Given the description of an element on the screen output the (x, y) to click on. 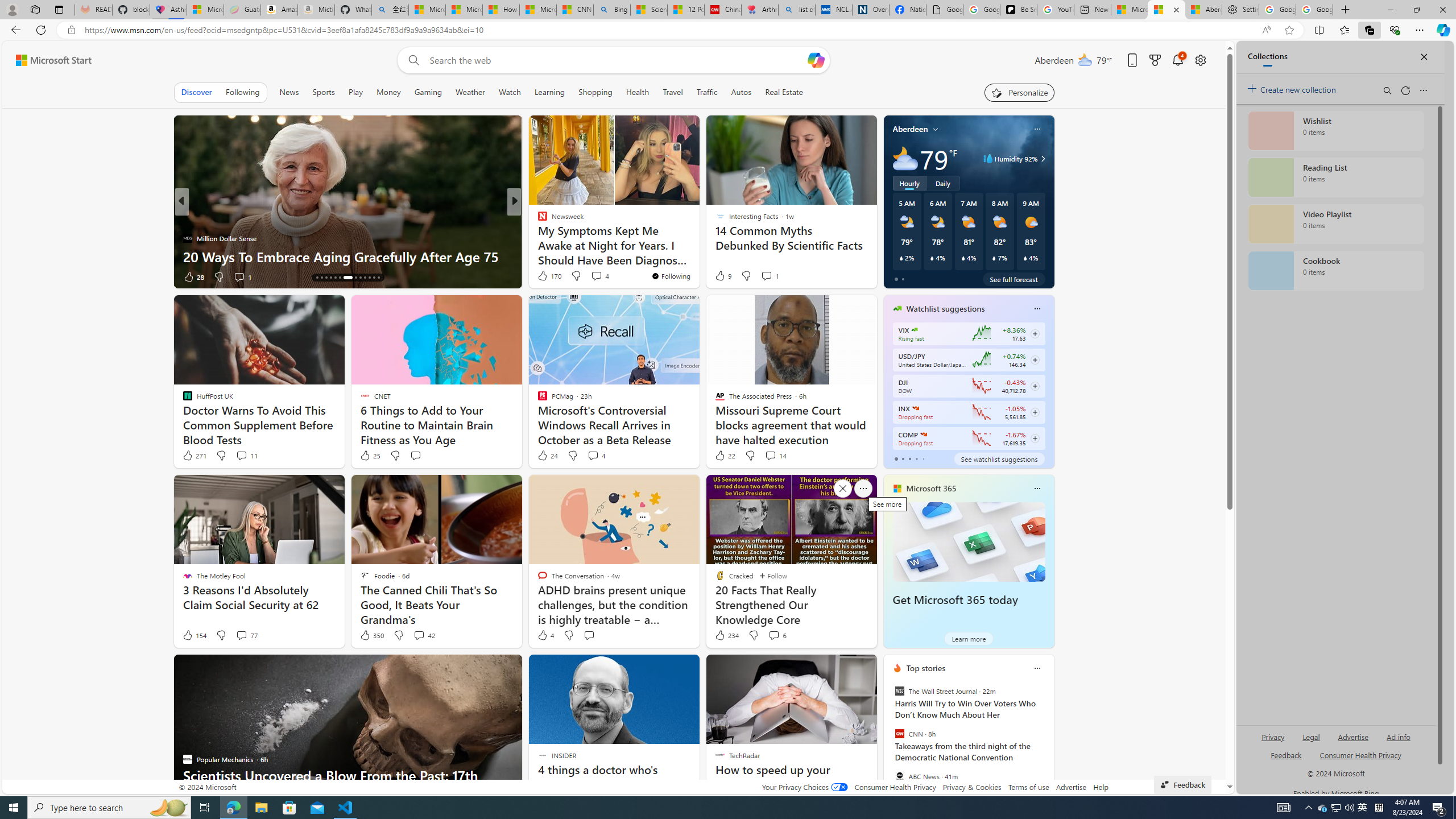
AutomationID: tab-23 (364, 277)
tab-1 (903, 458)
24 Like (546, 455)
Aberdeen (910, 128)
View comments 231 Comment (595, 276)
76 Like (543, 276)
350 Like (370, 634)
You're following FOX News (143, 279)
View comments 77 Comment (241, 635)
